Given the description of an element on the screen output the (x, y) to click on. 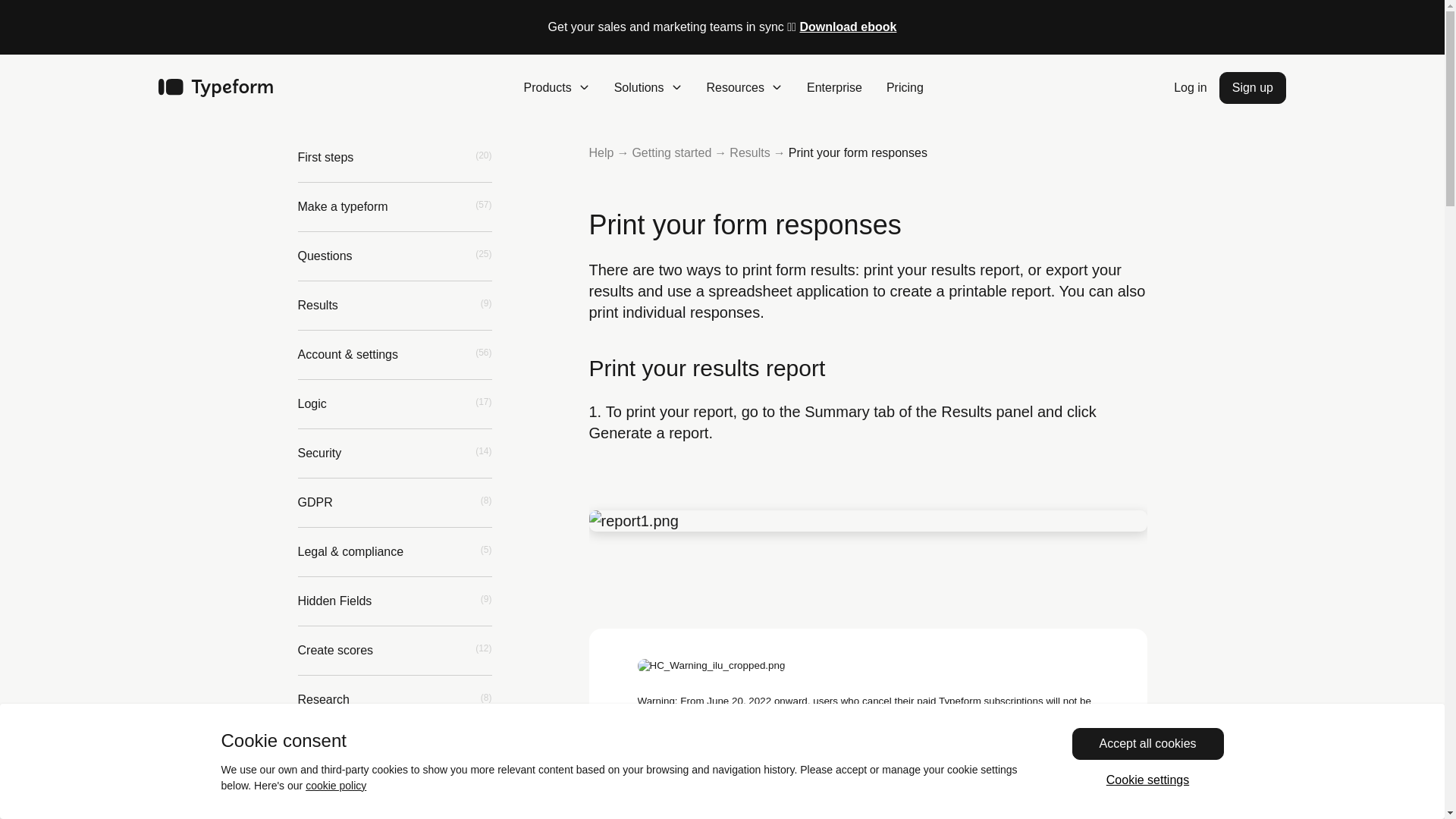
cookie policy (335, 785)
Enterprise (833, 87)
Go to typeform.com (215, 87)
Help (600, 152)
Log in (1190, 87)
Solutions (648, 87)
Download ebook (847, 26)
Products (556, 87)
Resources (744, 87)
Sign up (1252, 88)
Cookie settings (1147, 779)
Getting started (671, 152)
Accept all cookies (1147, 744)
